Given the description of an element on the screen output the (x, y) to click on. 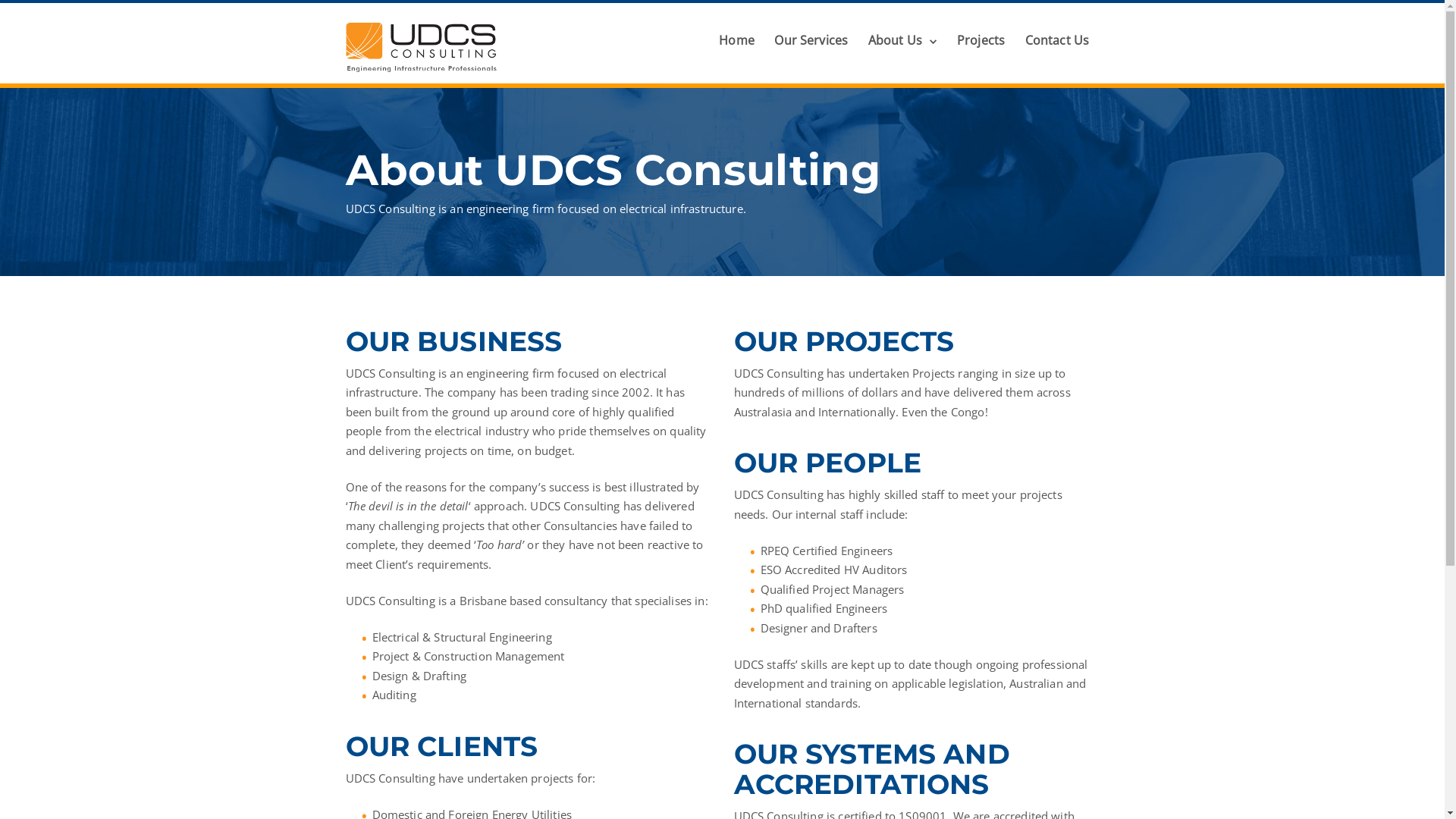
Our Services Element type: text (810, 40)
About Us Element type: text (901, 40)
Contact Us Element type: text (1056, 40)
Home Element type: text (736, 40)
Projects Element type: text (981, 40)
